Given the description of an element on the screen output the (x, y) to click on. 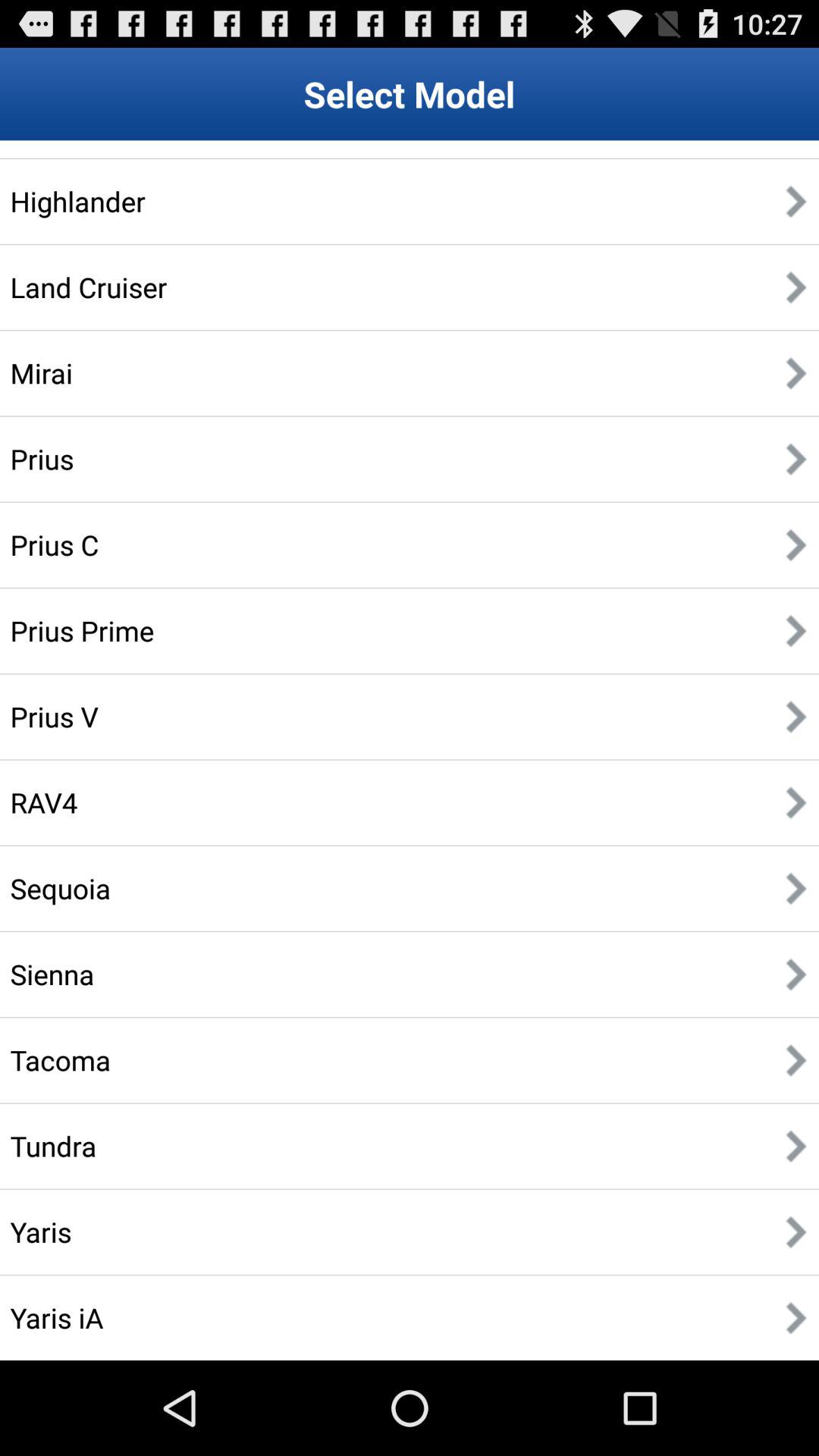
select sequoia (60, 888)
